Given the description of an element on the screen output the (x, y) to click on. 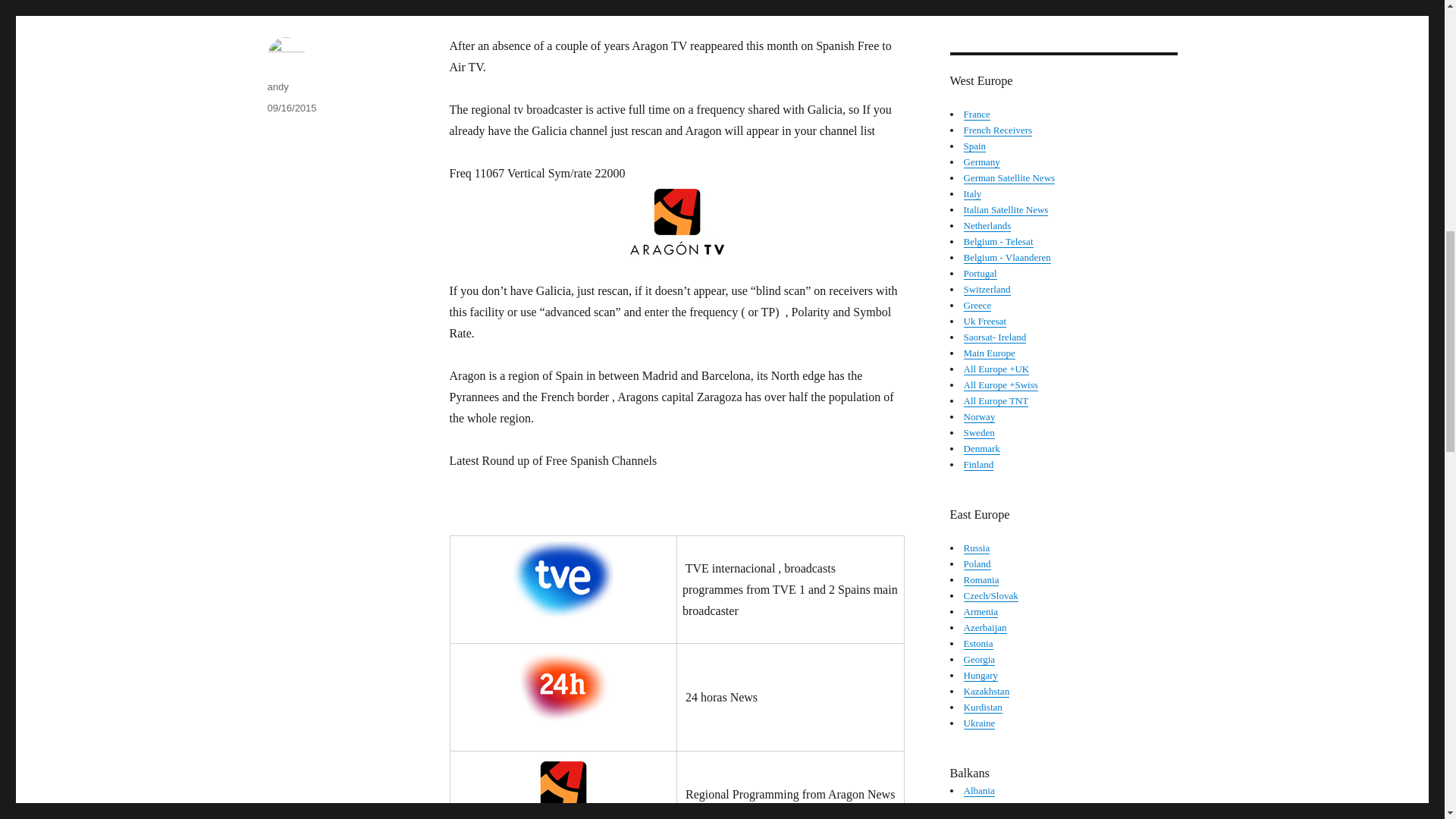
France (976, 113)
French Receivers (997, 129)
Germany (980, 161)
Belgium - Vlaanderen (1005, 256)
Greece (976, 305)
Belgium - Telesat (997, 241)
German Satellite News (1008, 177)
Uk Freesat (984, 320)
Switzerland (986, 288)
Spain (973, 145)
